Given the description of an element on the screen output the (x, y) to click on. 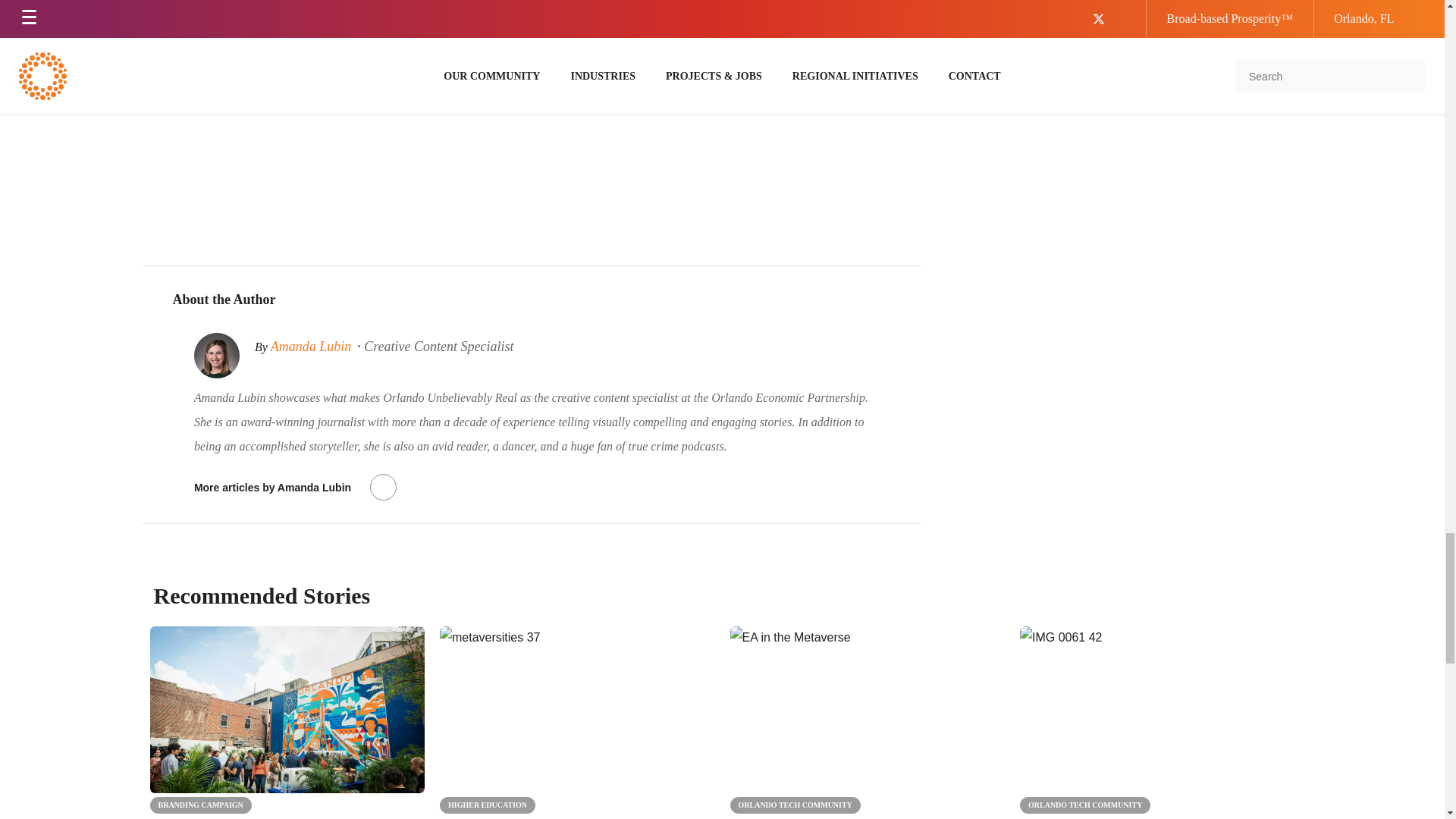
ORLANDO: Driving Toward a Digital Future 40 (866, 709)
Understanding Orlando's Tech Economy 43 (1157, 709)
